Given the description of an element on the screen output the (x, y) to click on. 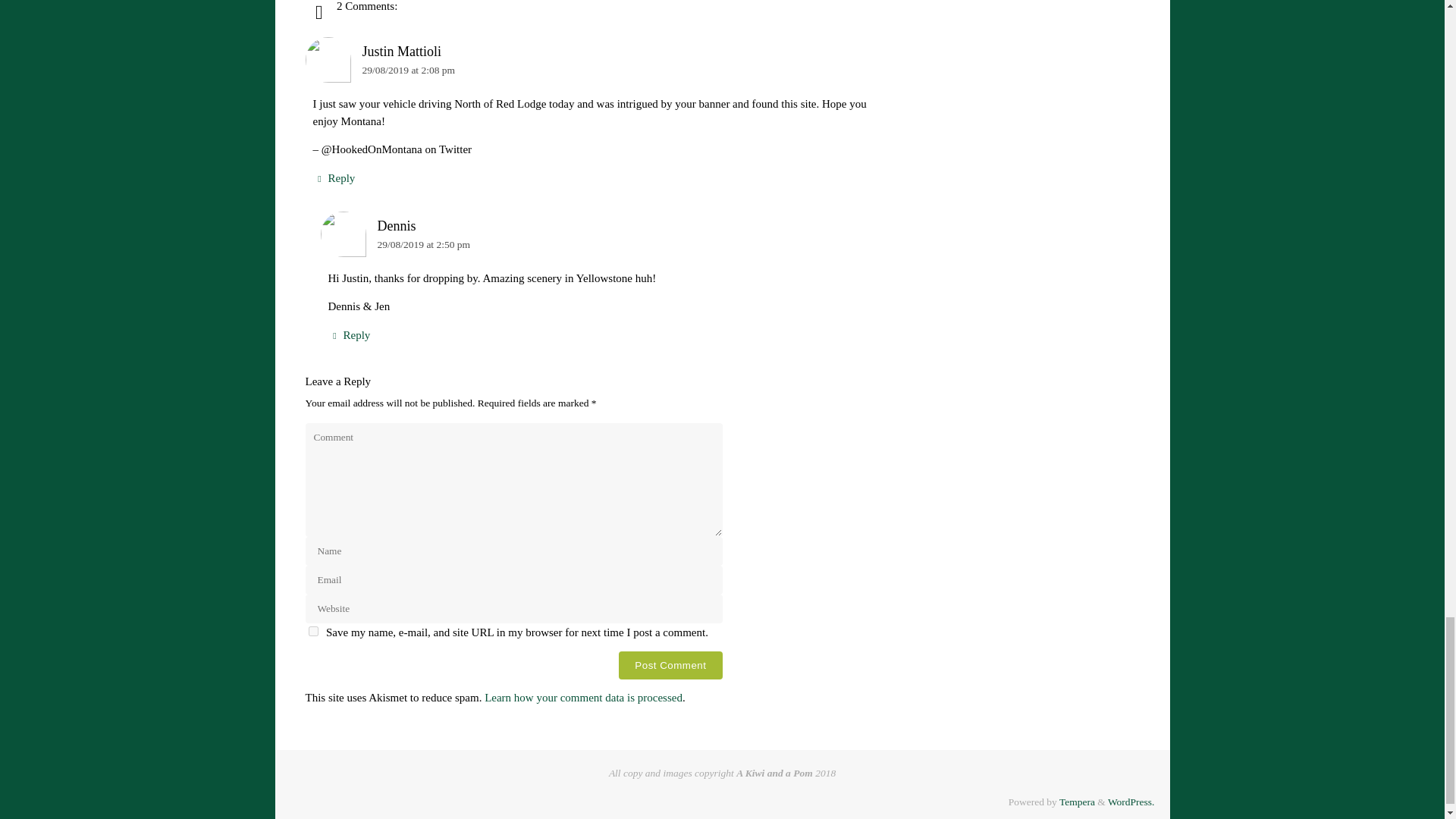
Reply (348, 334)
Semantic Personal Publishing Platform (1131, 801)
yes (312, 631)
Learn how your comment data is processed (583, 697)
Tempera Theme by Cryout Creations (1076, 801)
Post Comment (670, 665)
Reply (334, 178)
Post Comment (670, 665)
